Given the description of an element on the screen output the (x, y) to click on. 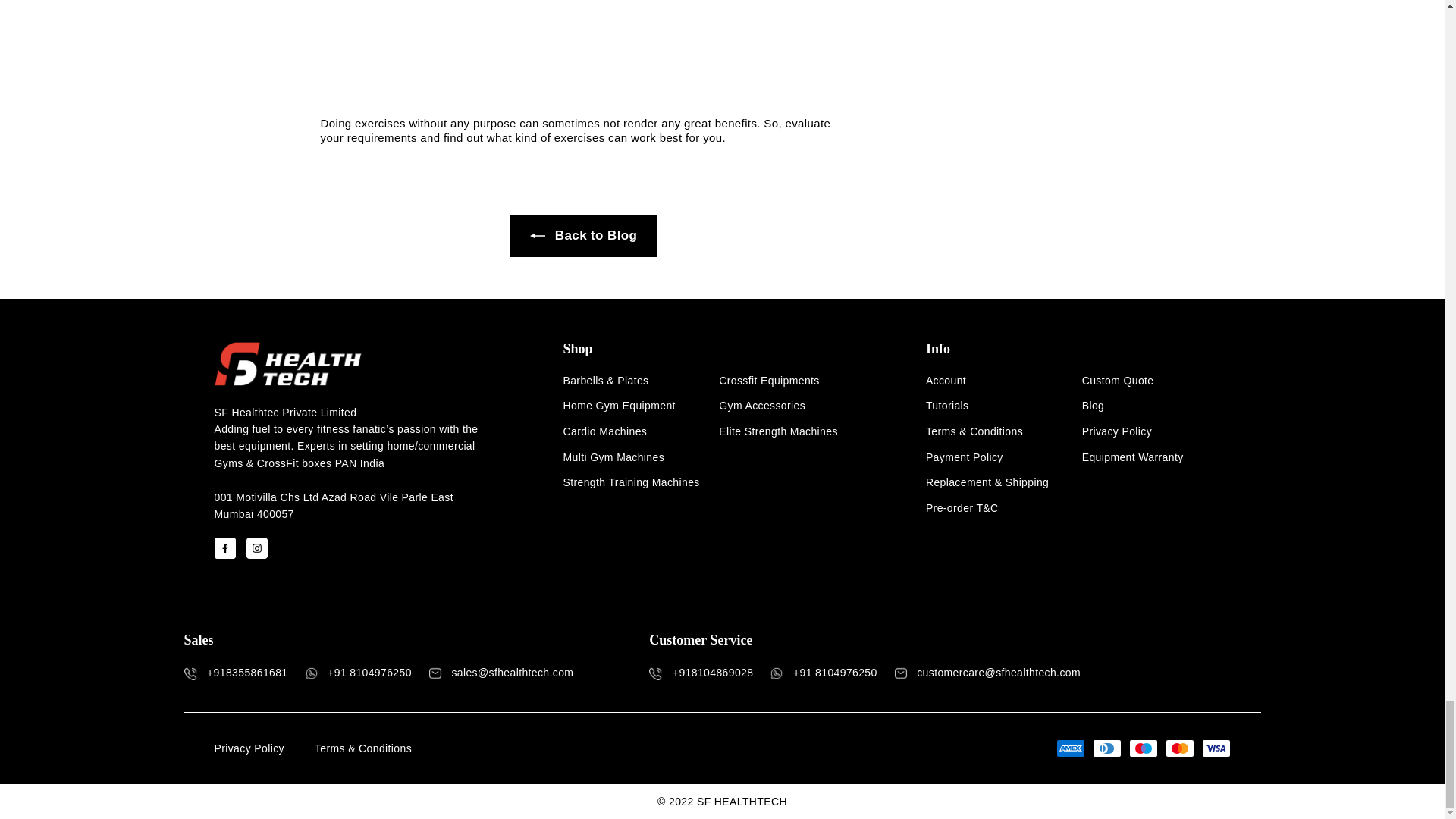
YouTube video player (582, 52)
